Given the description of an element on the screen output the (x, y) to click on. 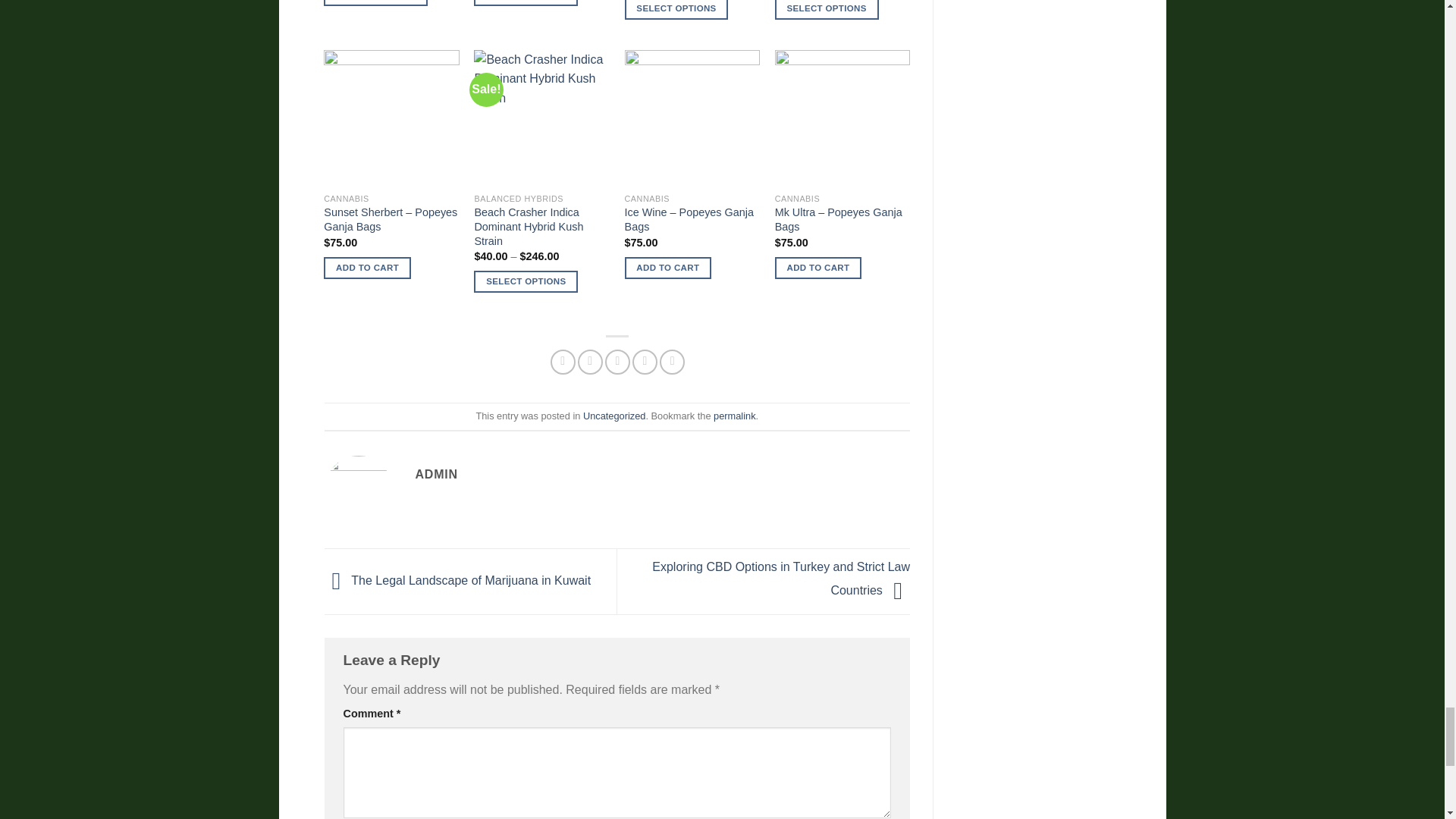
Share on Twitter (590, 361)
Email to a Friend (617, 361)
Pin on Pinterest (644, 361)
Share on LinkedIn (671, 361)
Share on Facebook (562, 361)
